Given the description of an element on the screen output the (x, y) to click on. 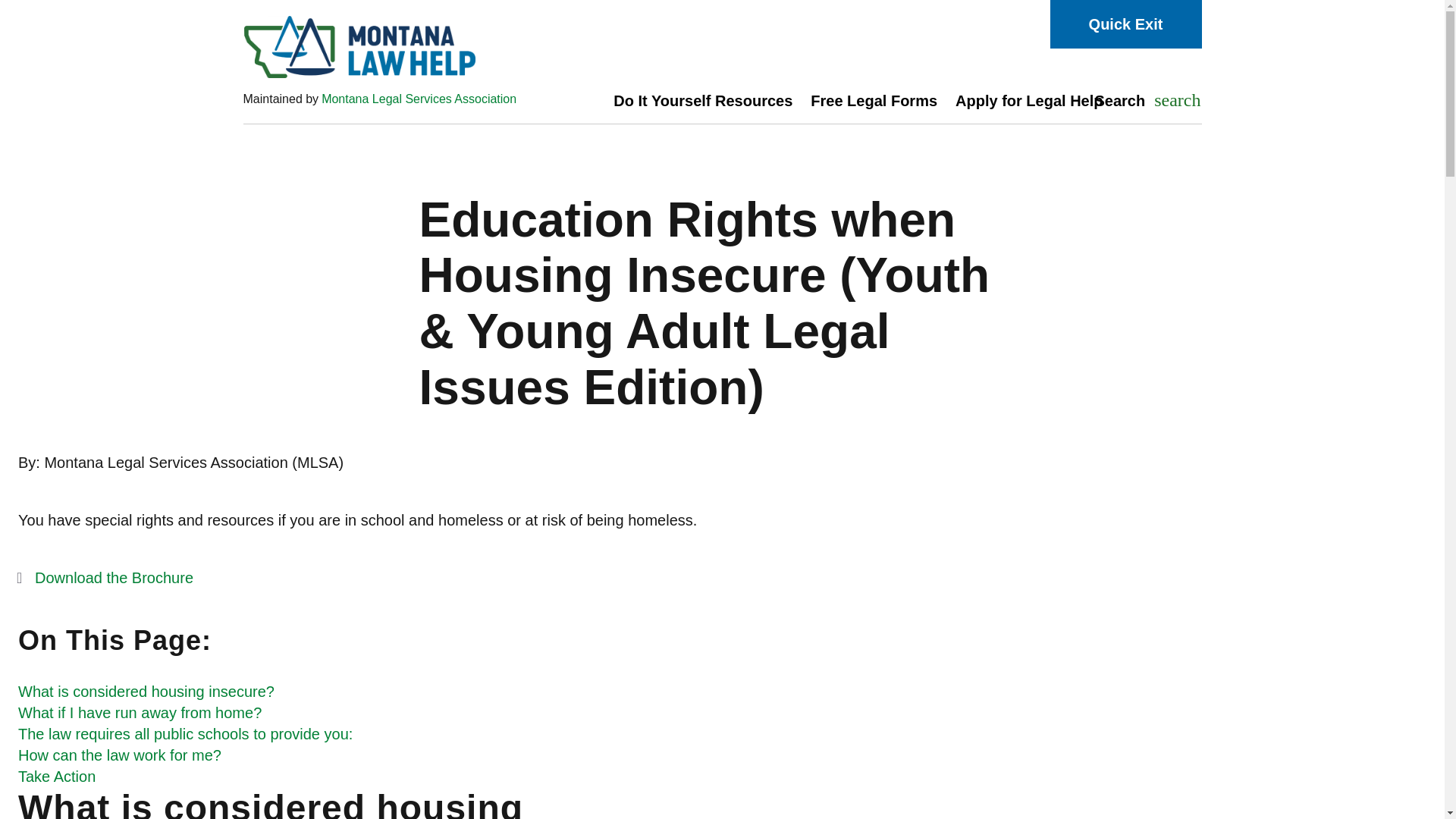
Apply for Legal Help (1029, 100)
Montana Legal Services Association (418, 98)
What if I have run away from home? (139, 712)
Download the Brochure (105, 577)
Free Legal Forms (1142, 100)
Home (874, 100)
The law requires all public schools to provide you: (389, 46)
educational-rights-when-housing-insecure.pdf (184, 733)
How can the law work for me? (105, 577)
